Given the description of an element on the screen output the (x, y) to click on. 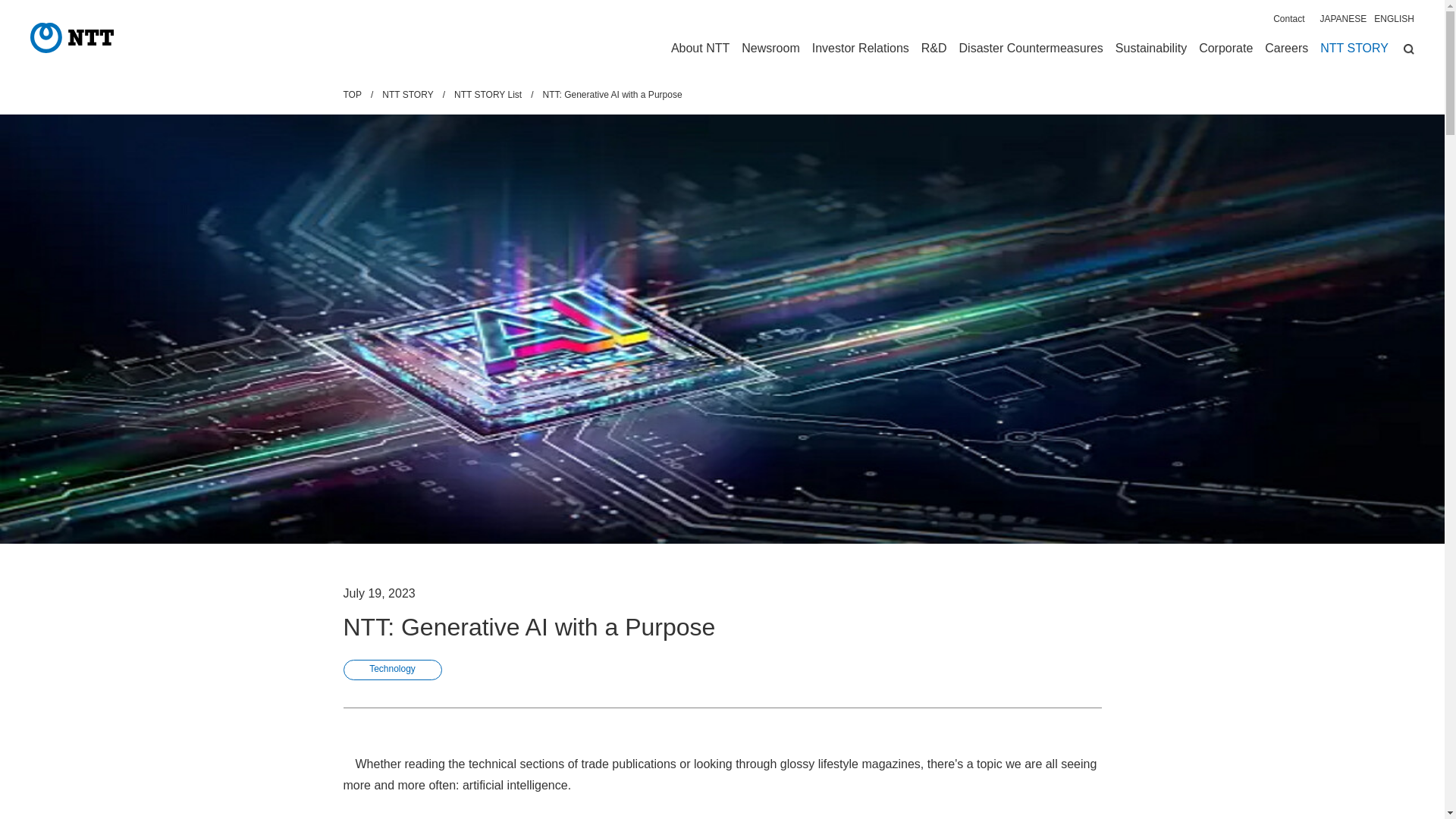
About NTT (700, 49)
Newsroom (770, 49)
ENGLISH (1393, 18)
JAPANESE (1343, 18)
Contact (1288, 18)
Investor Relations (860, 49)
Move to the top page of the NTT official website (71, 37)
